Given the description of an element on the screen output the (x, y) to click on. 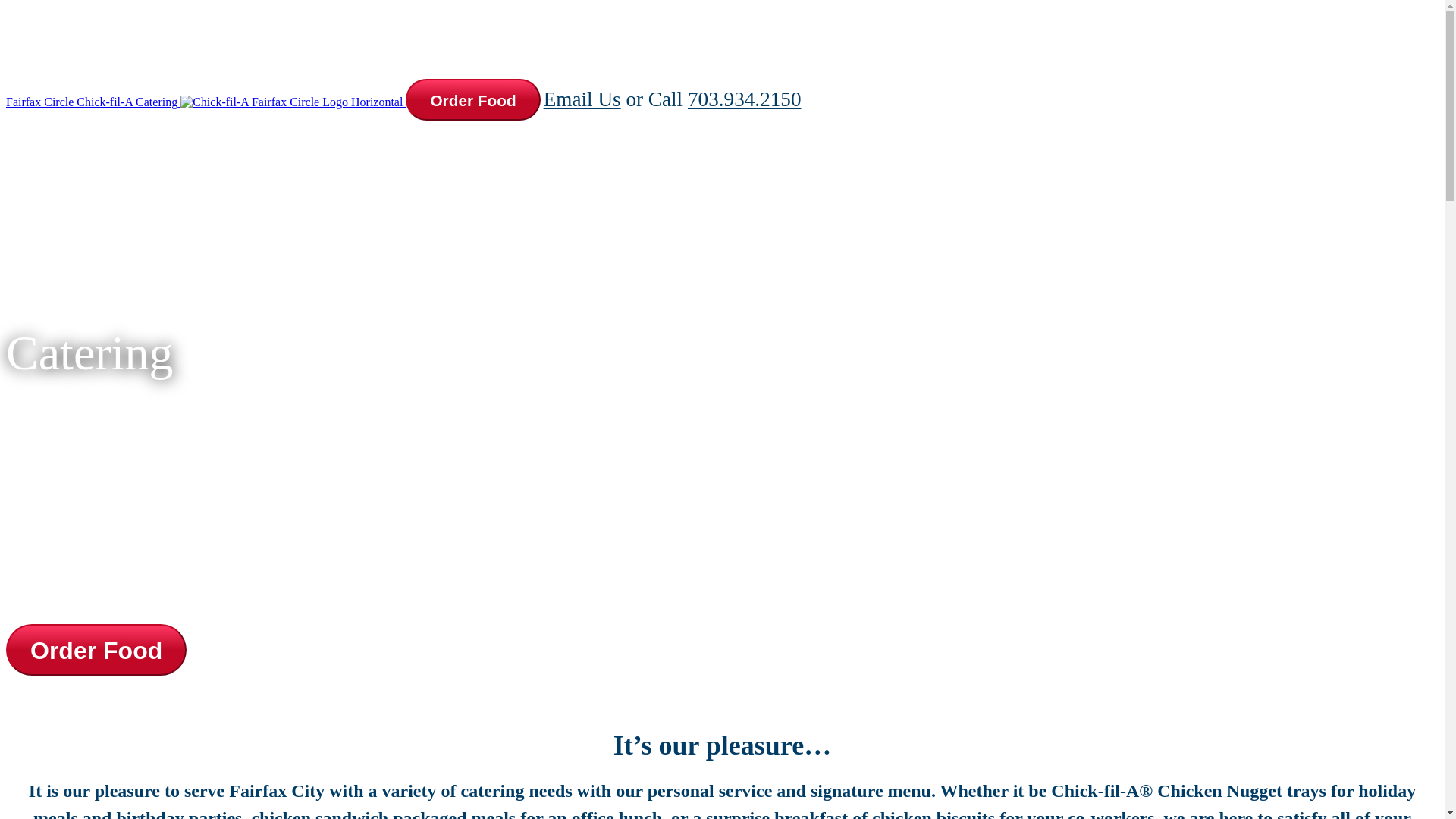
signature menu Element type: text (870, 790)
Email Us Element type: text (582, 98)
Fairfax Circle Chick-fil-A Catering Element type: text (205, 101)
Order Food Element type: text (96, 649)
703.934.2150 Element type: text (744, 98)
Order Food Element type: text (472, 100)
Order Food Element type: text (96, 650)
Order Food Element type: text (472, 99)
